Given the description of an element on the screen output the (x, y) to click on. 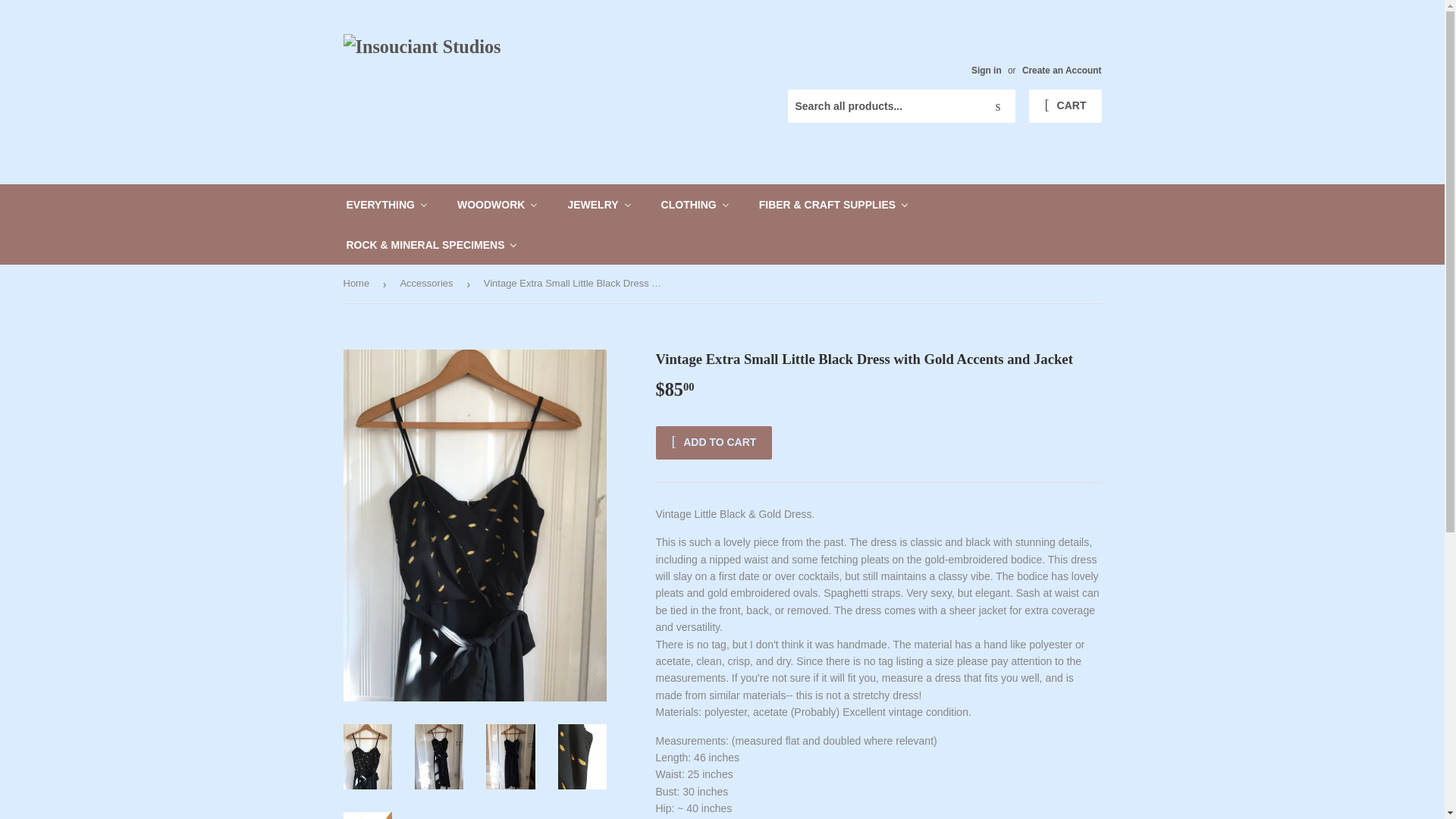
CART (1064, 105)
Sign in (986, 70)
Search (997, 106)
Create an Account (1062, 70)
